Given the description of an element on the screen output the (x, y) to click on. 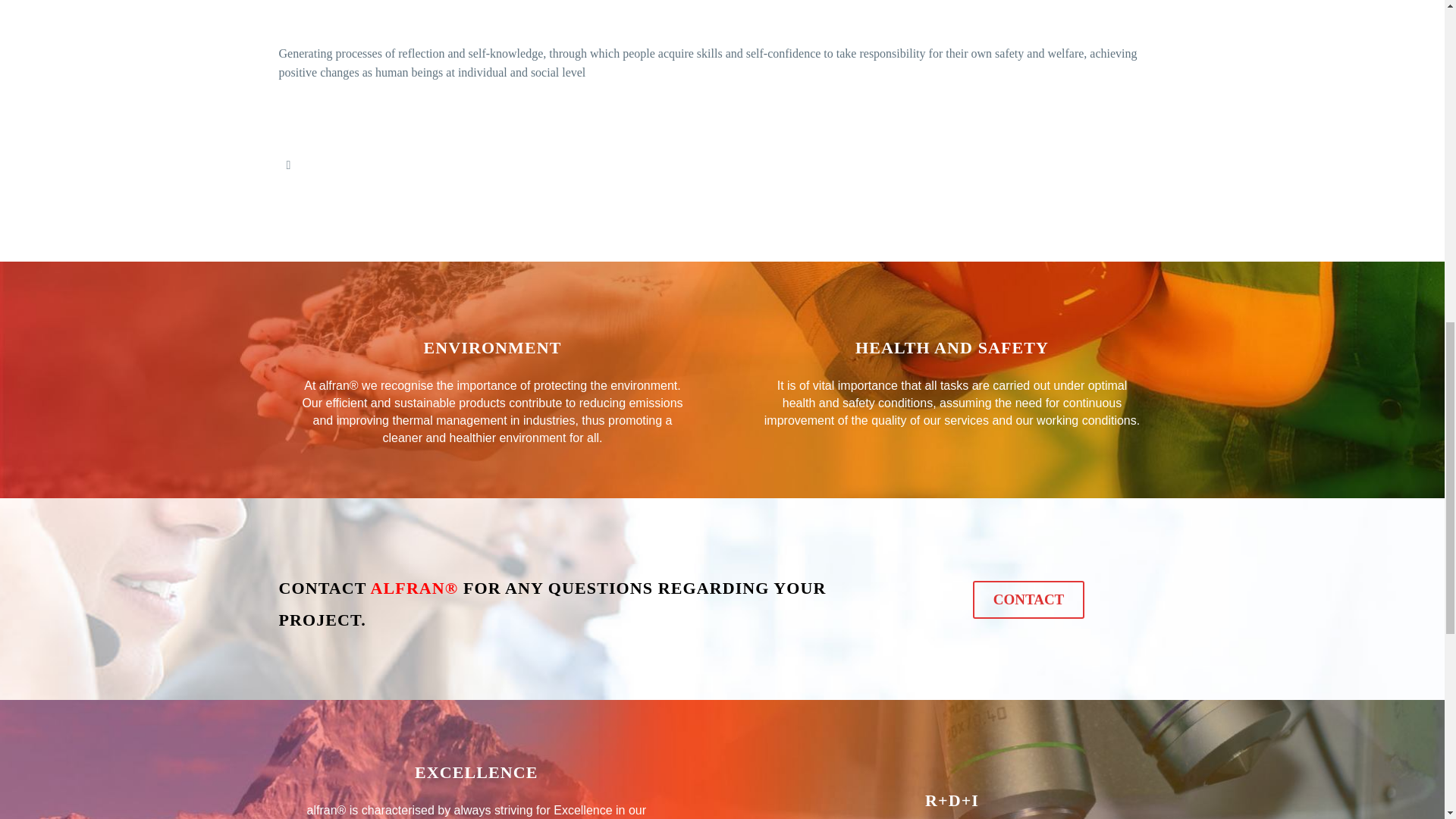
LinkedIn (288, 164)
